Given the description of an element on the screen output the (x, y) to click on. 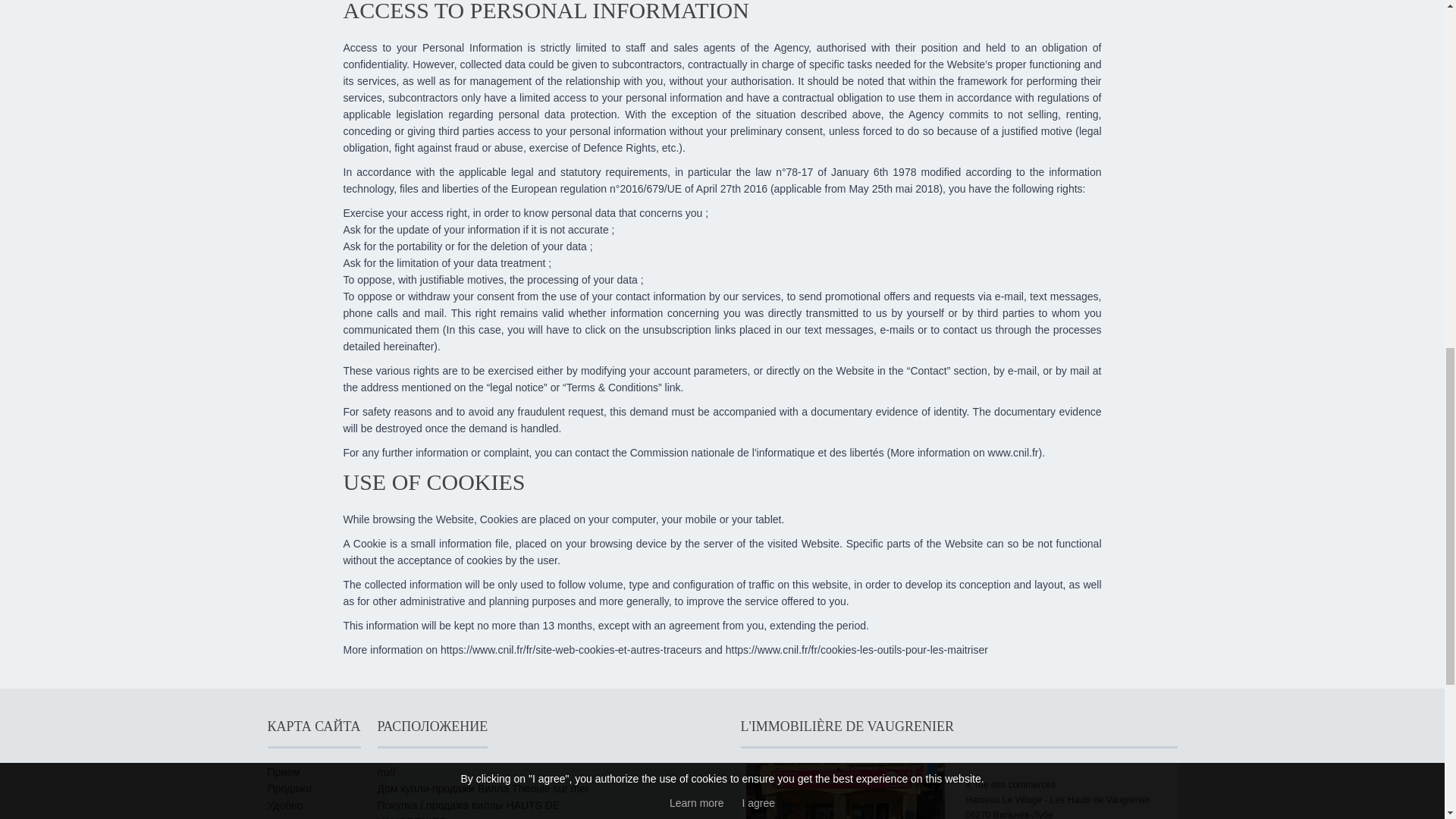
www.cnil.fr (1013, 452)
